Given the description of an element on the screen output the (x, y) to click on. 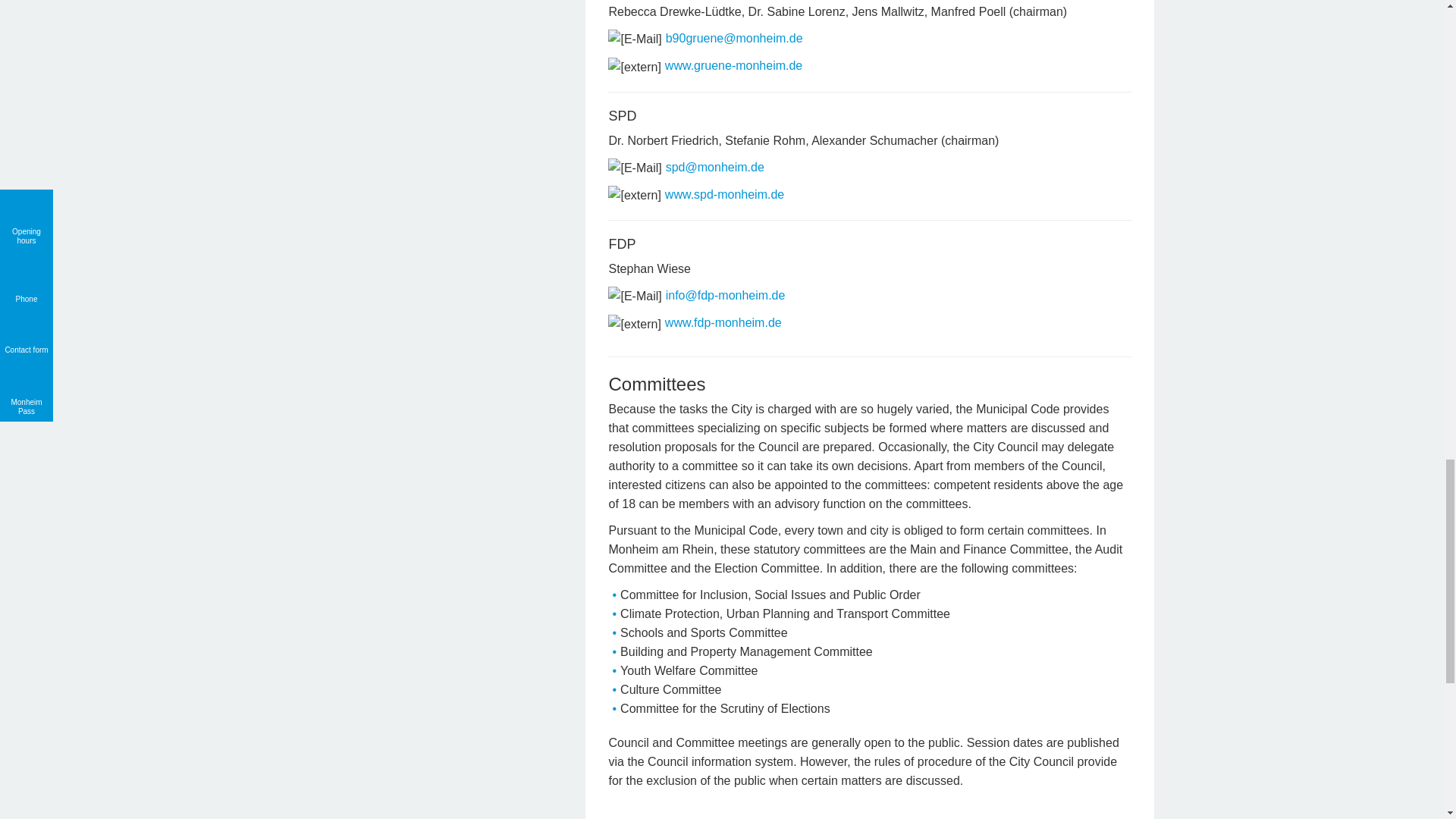
E-Mail Link (634, 295)
E-Mail Link (634, 167)
externer Link (634, 323)
externer Link (634, 66)
externer Link (634, 194)
E-Mail Link (634, 38)
Opens external link in new window (723, 322)
